Given the description of an element on the screen output the (x, y) to click on. 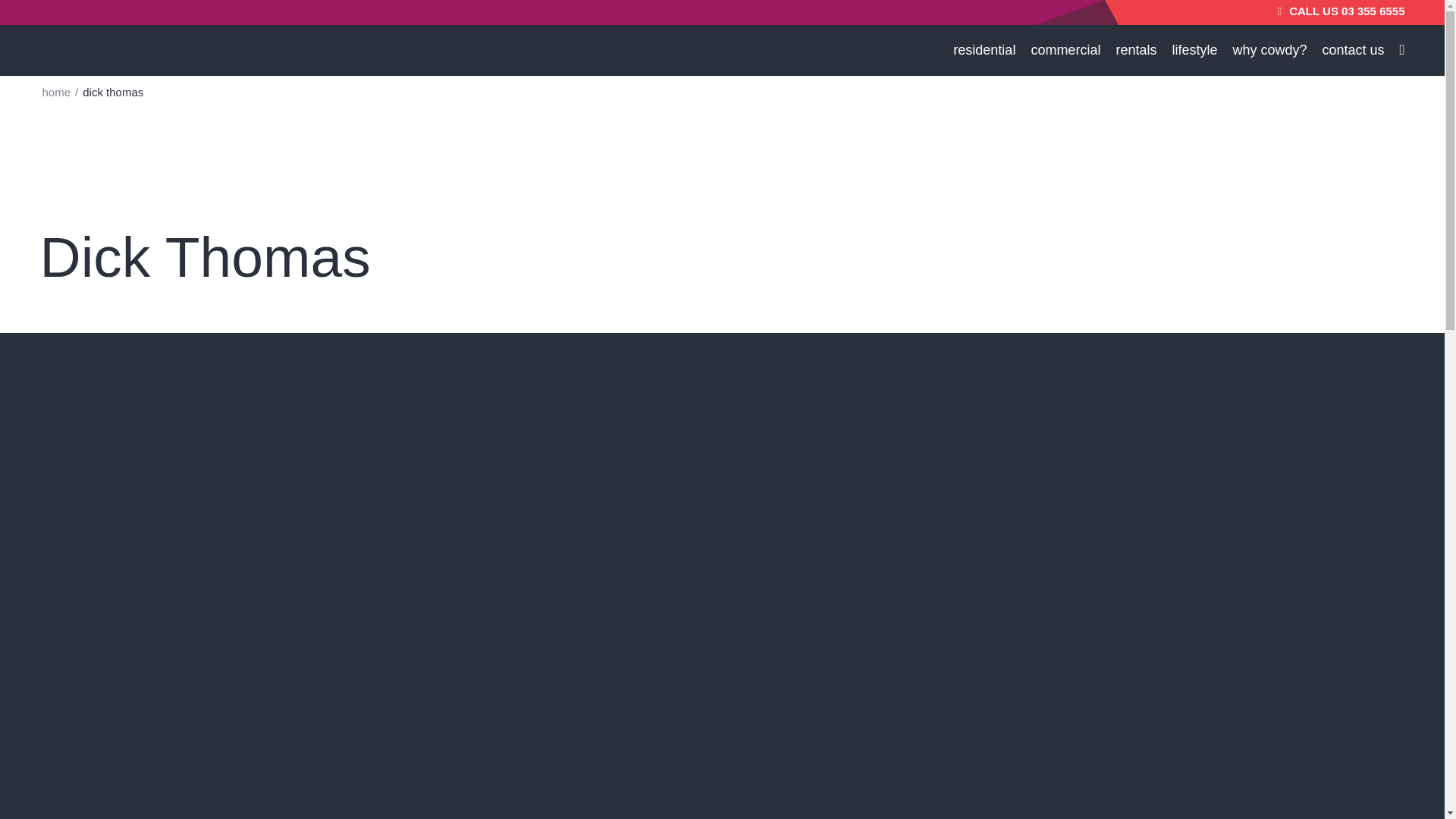
rentals (1135, 50)
home (55, 91)
SEARCH (1314, 18)
contact us (1352, 50)
commercial (1065, 50)
residential (983, 50)
Cowdy Real Estate (55, 91)
lifestyle (1193, 50)
CALL US 03 355 6555 (1341, 11)
why cowdy? (1269, 50)
